Given the description of an element on the screen output the (x, y) to click on. 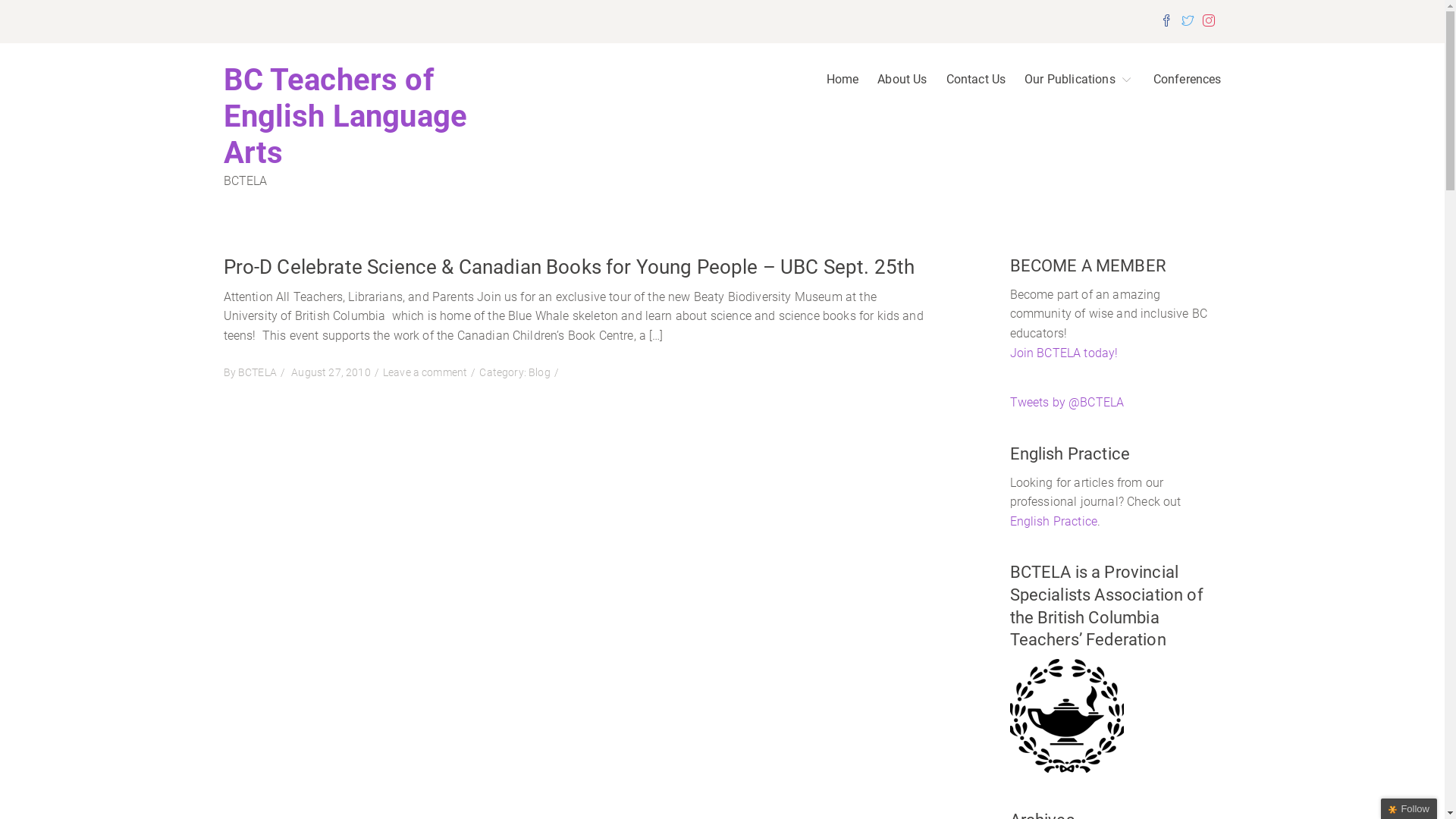
Tweets by @BCTELA Element type: text (1067, 402)
Facebook Element type: text (1169, 21)
Our Publications Element type: text (1069, 84)
BC Teachers of English Language Arts Element type: text (344, 116)
About Us Element type: text (892, 84)
English Practice Element type: text (1054, 521)
Blog Element type: text (539, 372)
Contact Us Element type: text (966, 84)
Conferences Element type: text (1177, 84)
Home Element type: text (833, 84)
Twitter Element type: text (1190, 21)
August 27, 2010 Element type: text (336, 372)
Join BCTELA today! Element type: text (1064, 352)
BCTELA Element type: text (257, 372)
Instagram Element type: text (1211, 21)
